Given the description of an element on the screen output the (x, y) to click on. 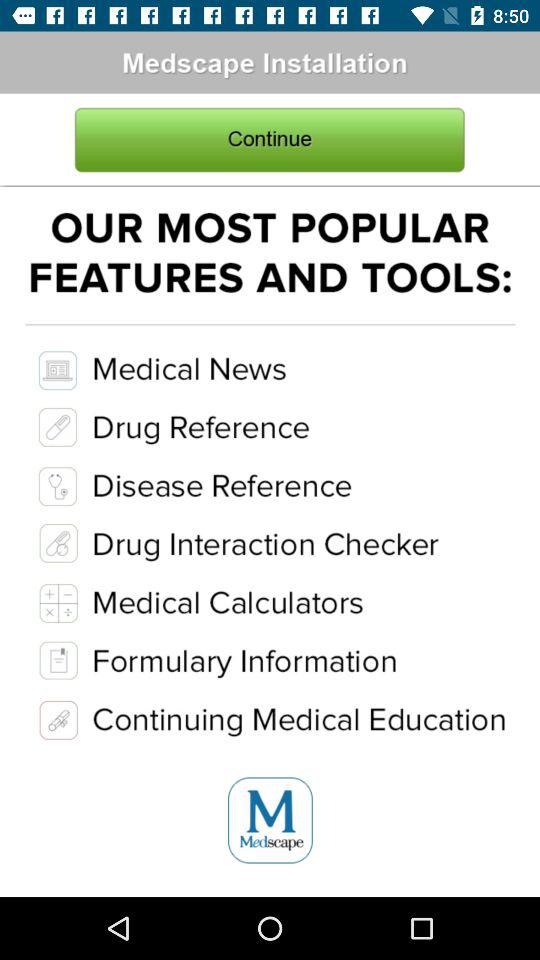
continue (269, 139)
